Given the description of an element on the screen output the (x, y) to click on. 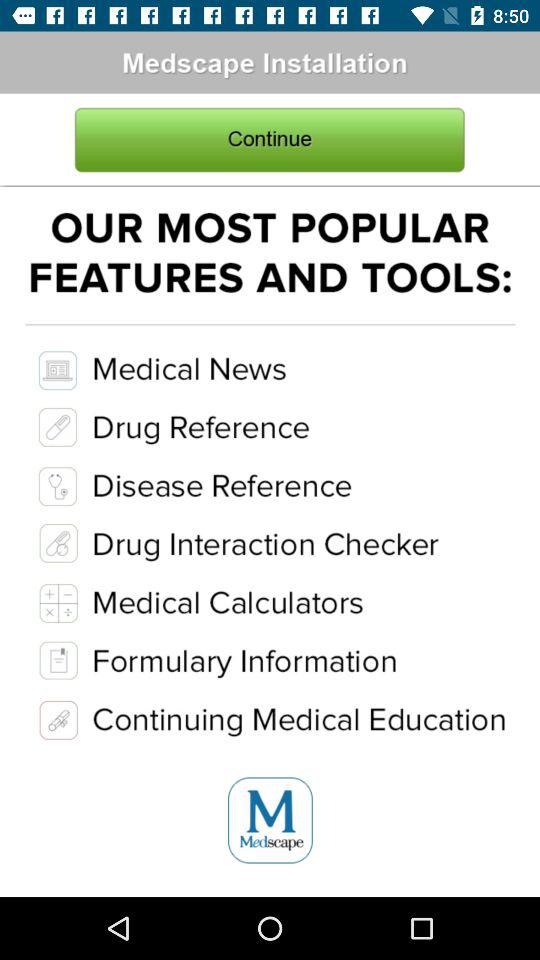
continue (269, 139)
